Given the description of an element on the screen output the (x, y) to click on. 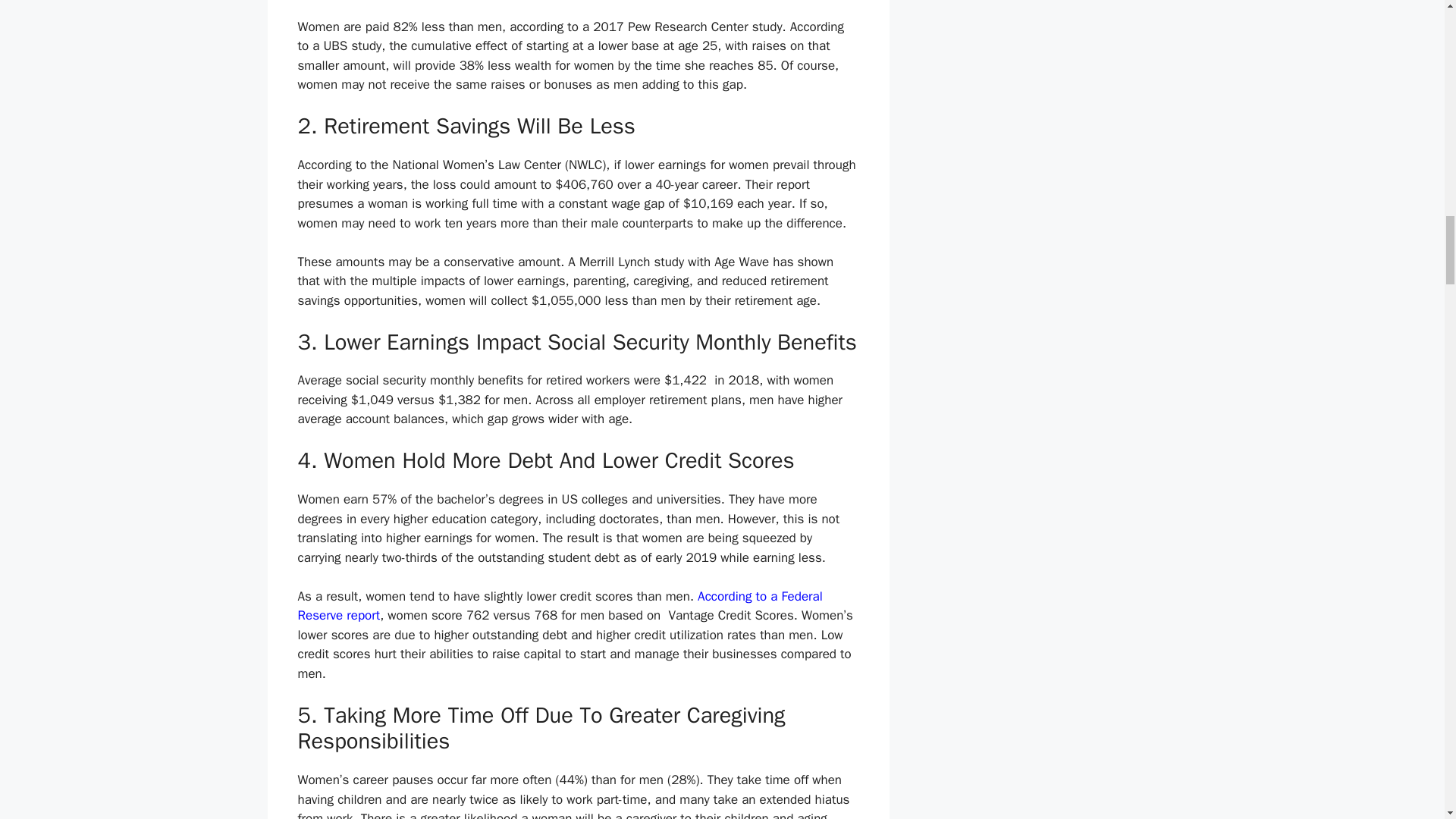
According to a Federal Reserve report (559, 606)
